Given the description of an element on the screen output the (x, y) to click on. 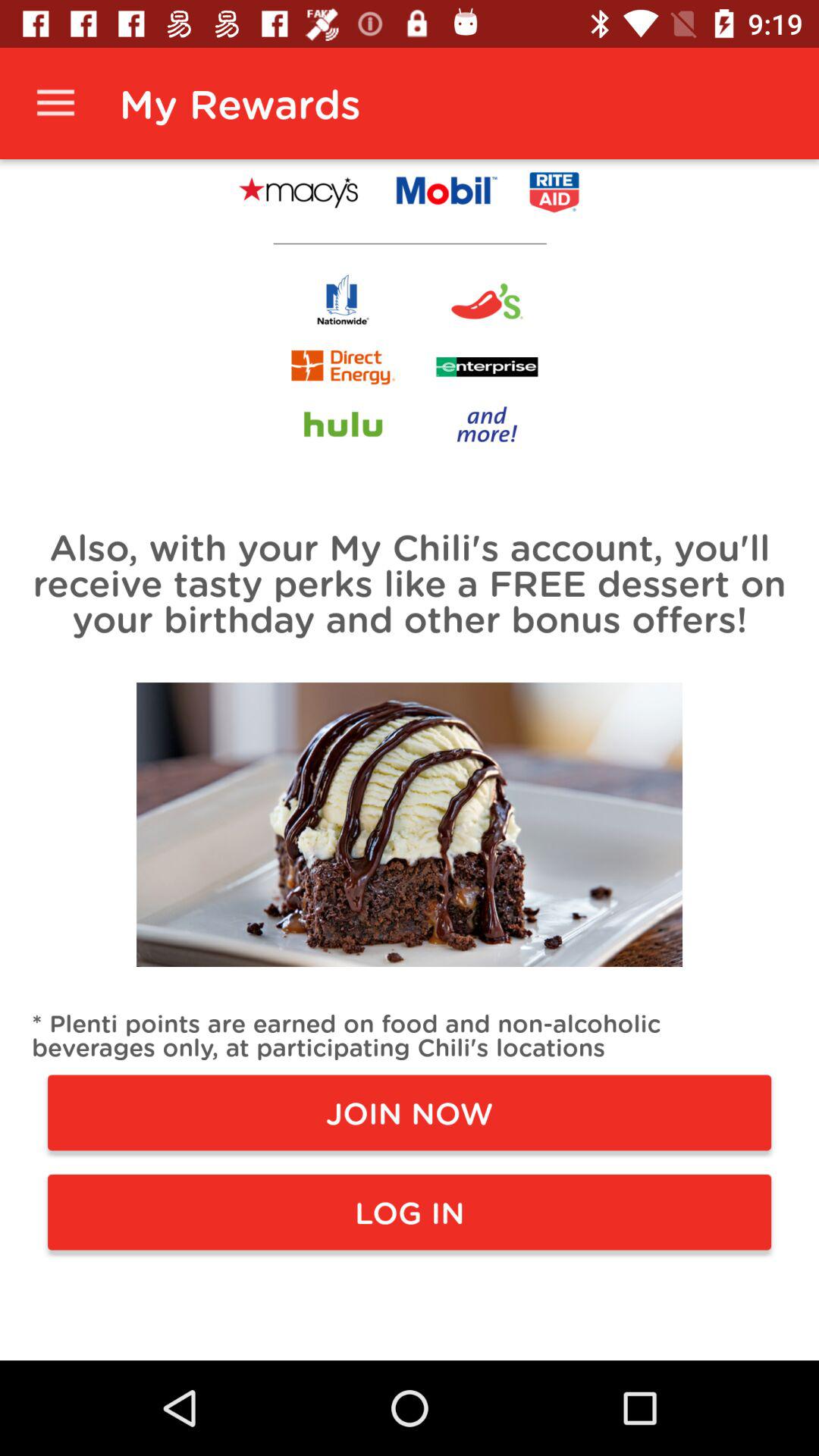
select the log in icon (409, 1212)
